Given the description of an element on the screen output the (x, y) to click on. 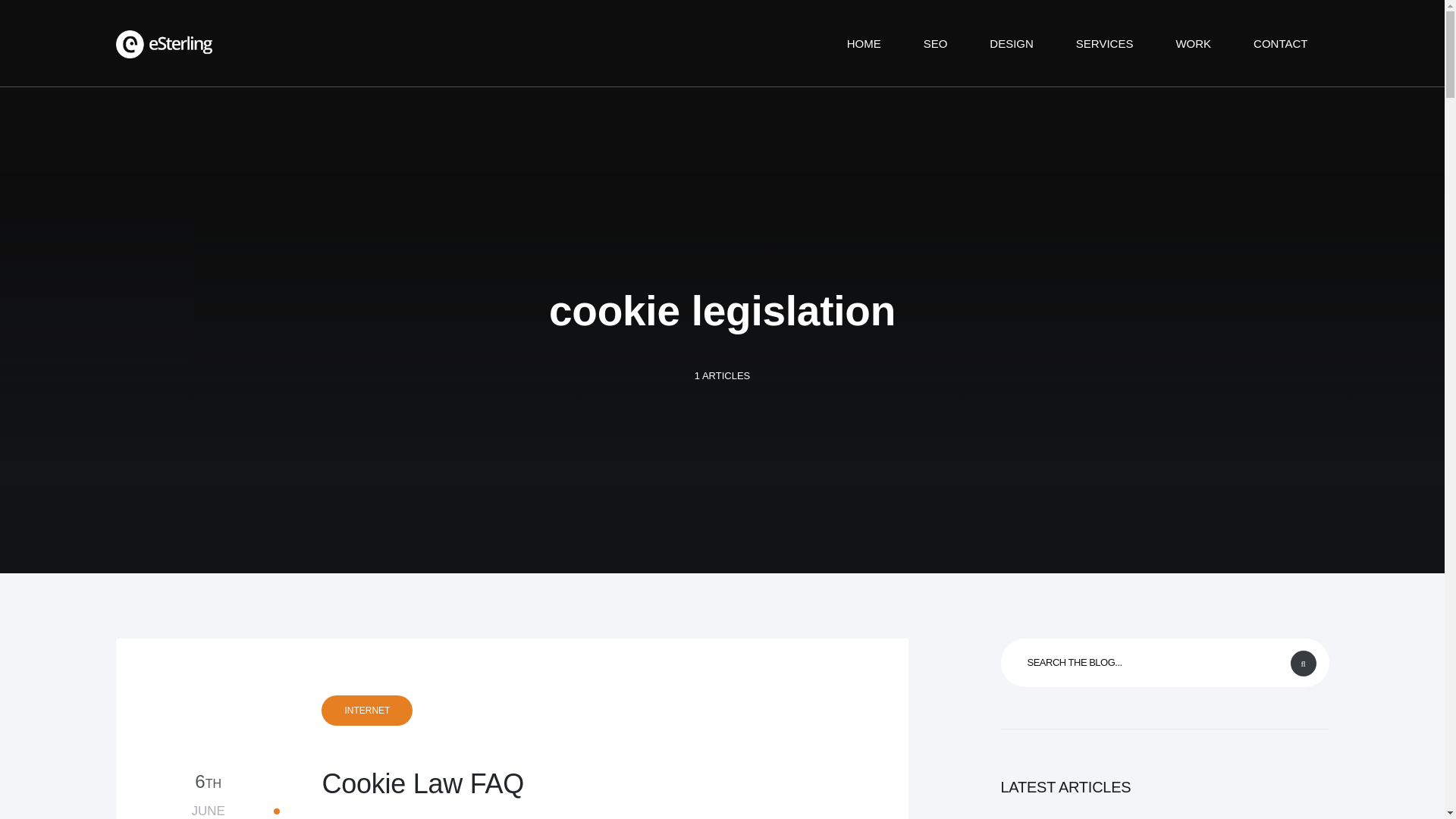
WORK (208, 795)
INTERNET (1192, 42)
SEO (366, 710)
DESIGN (935, 42)
SERVICES (1011, 42)
CONTACT (1104, 42)
Cookie Law FAQ (1279, 42)
HOME (559, 783)
